Given the description of an element on the screen output the (x, y) to click on. 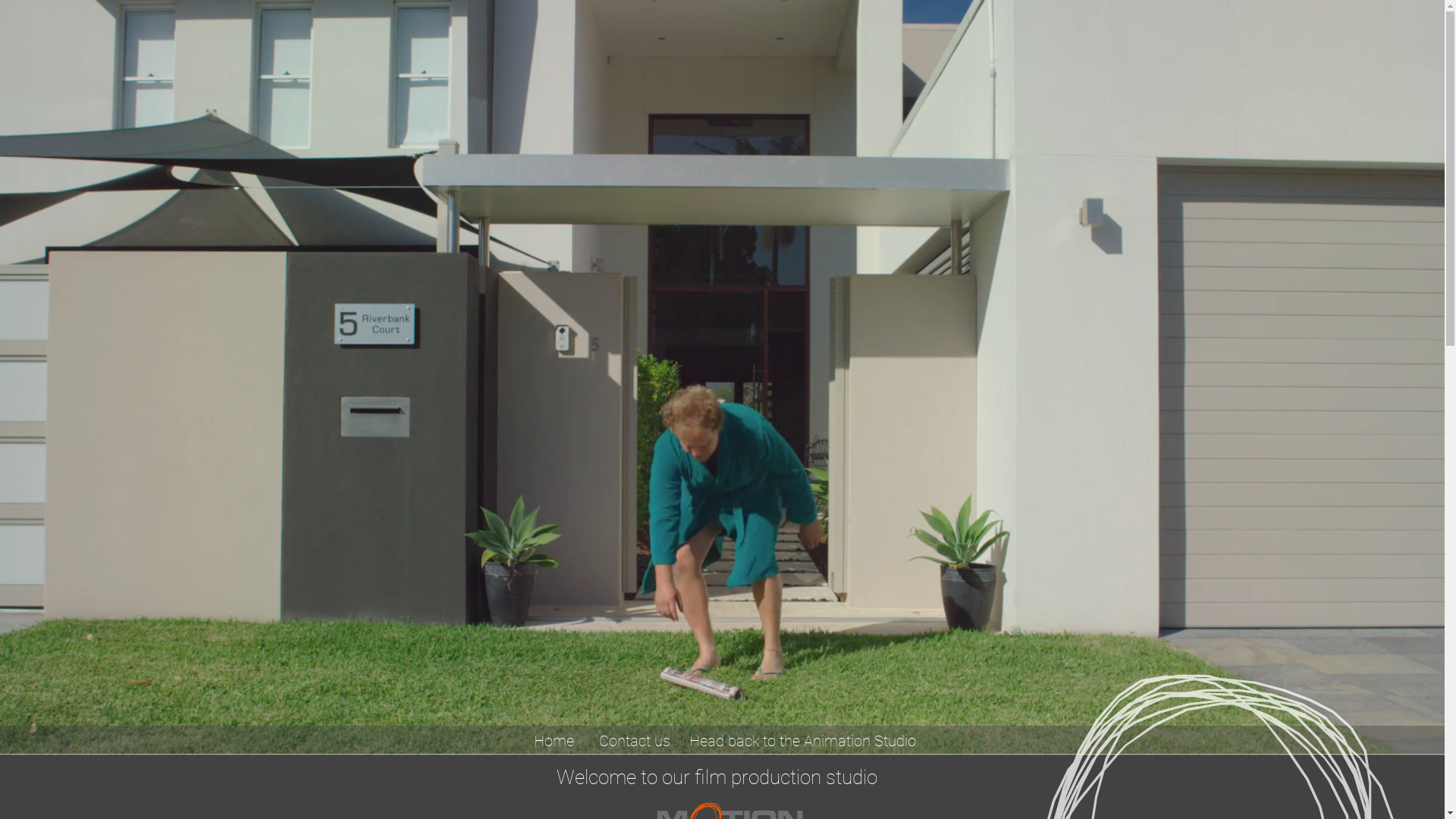
Contact us Element type: text (634, 740)
Head back to the Animation Studio Element type: text (802, 740)
Home Element type: text (552, 740)
